Given the description of an element on the screen output the (x, y) to click on. 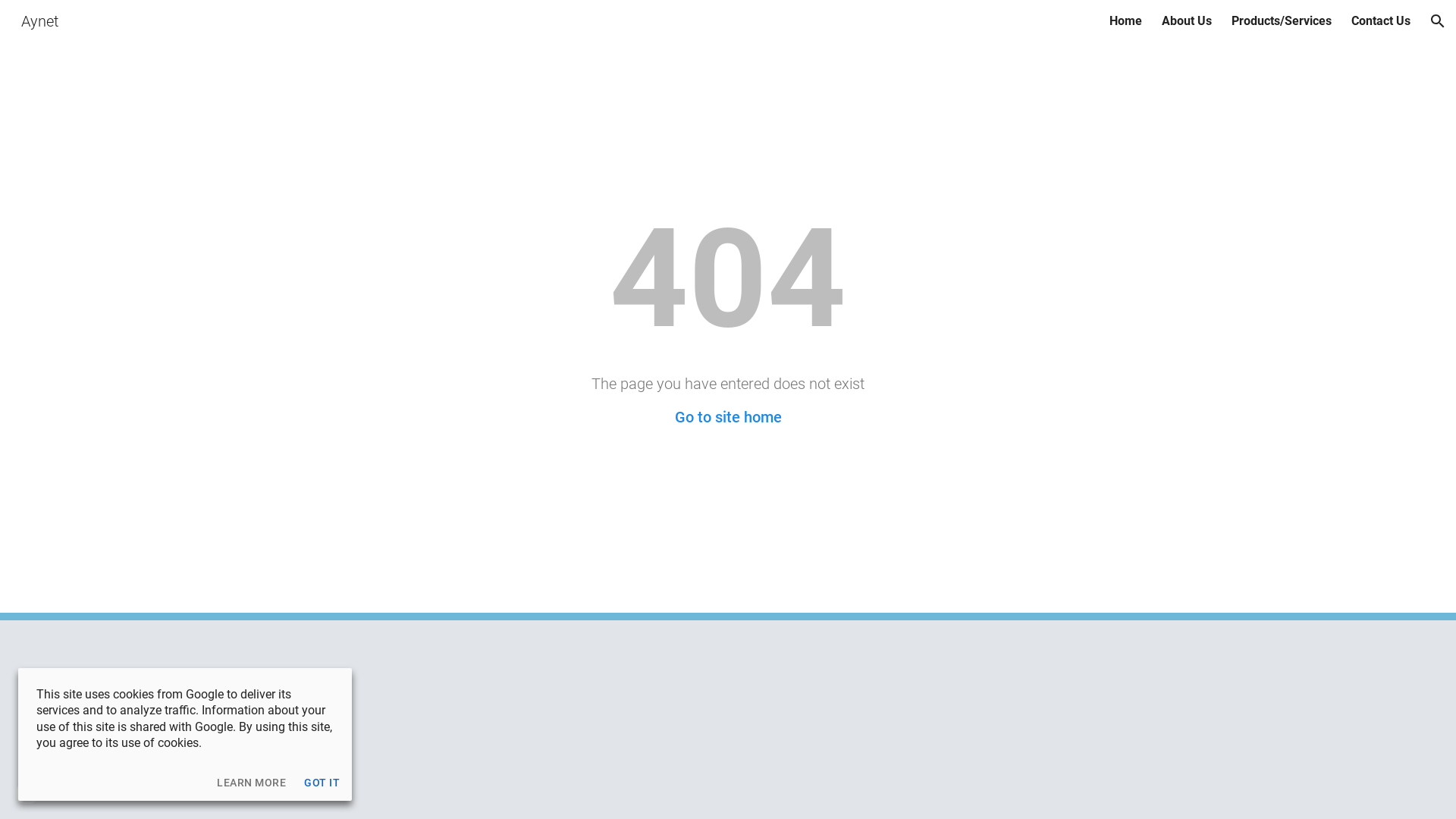
About Us Element type: text (1186, 20)
Contact Us Element type: text (1380, 20)
Products/Services Element type: text (1281, 20)
Go to site home Element type: text (727, 416)
Aynet Element type: text (39, 19)
LEARN MORE Element type: text (250, 781)
Home Element type: text (1125, 20)
